Given the description of an element on the screen output the (x, y) to click on. 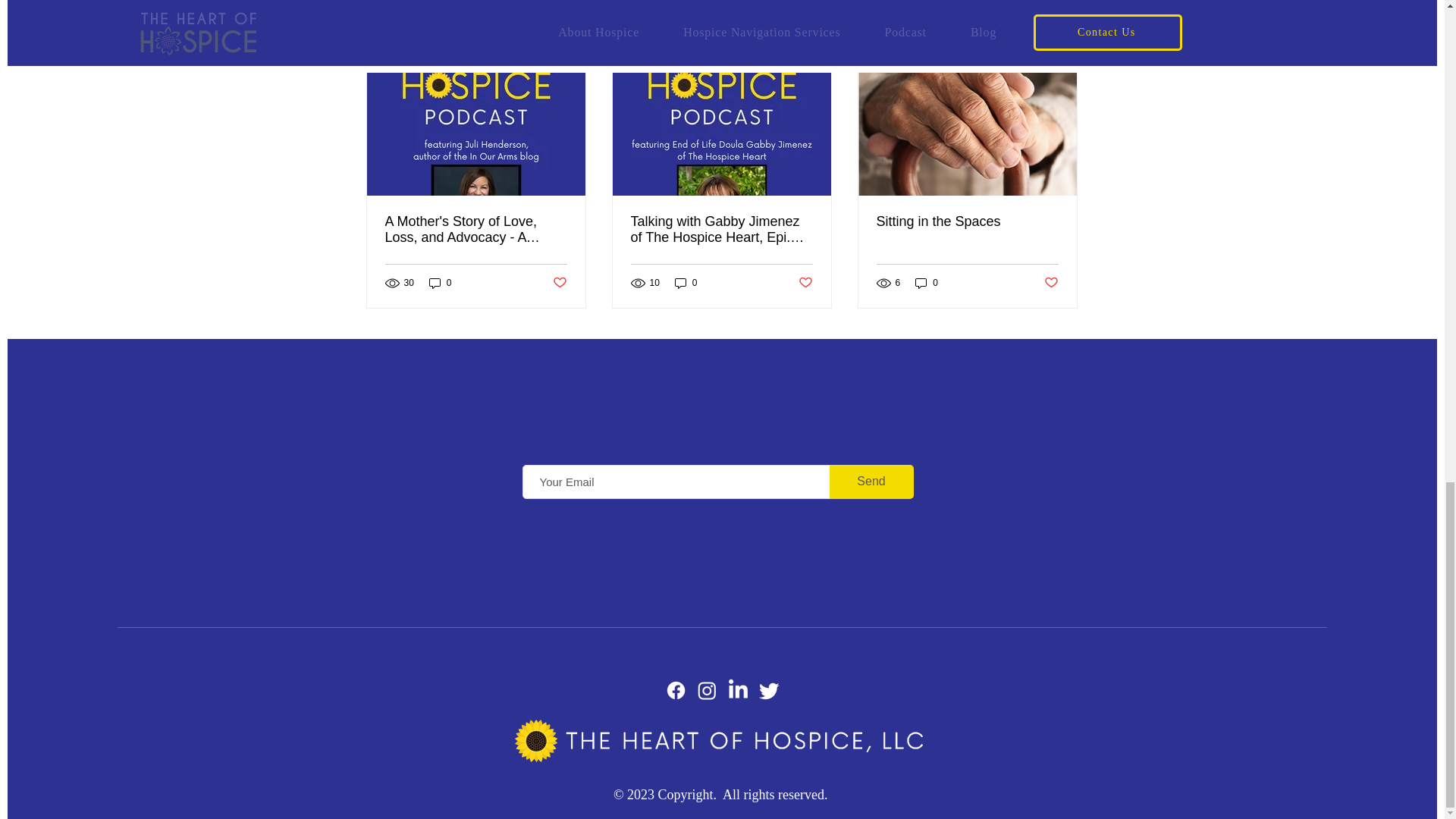
Talking with Gabby Jimenez of The Hospice Heart, Epi. 194 (721, 229)
See All (1061, 45)
Post not marked as liked (558, 282)
0 (440, 283)
